Given the description of an element on the screen output the (x, y) to click on. 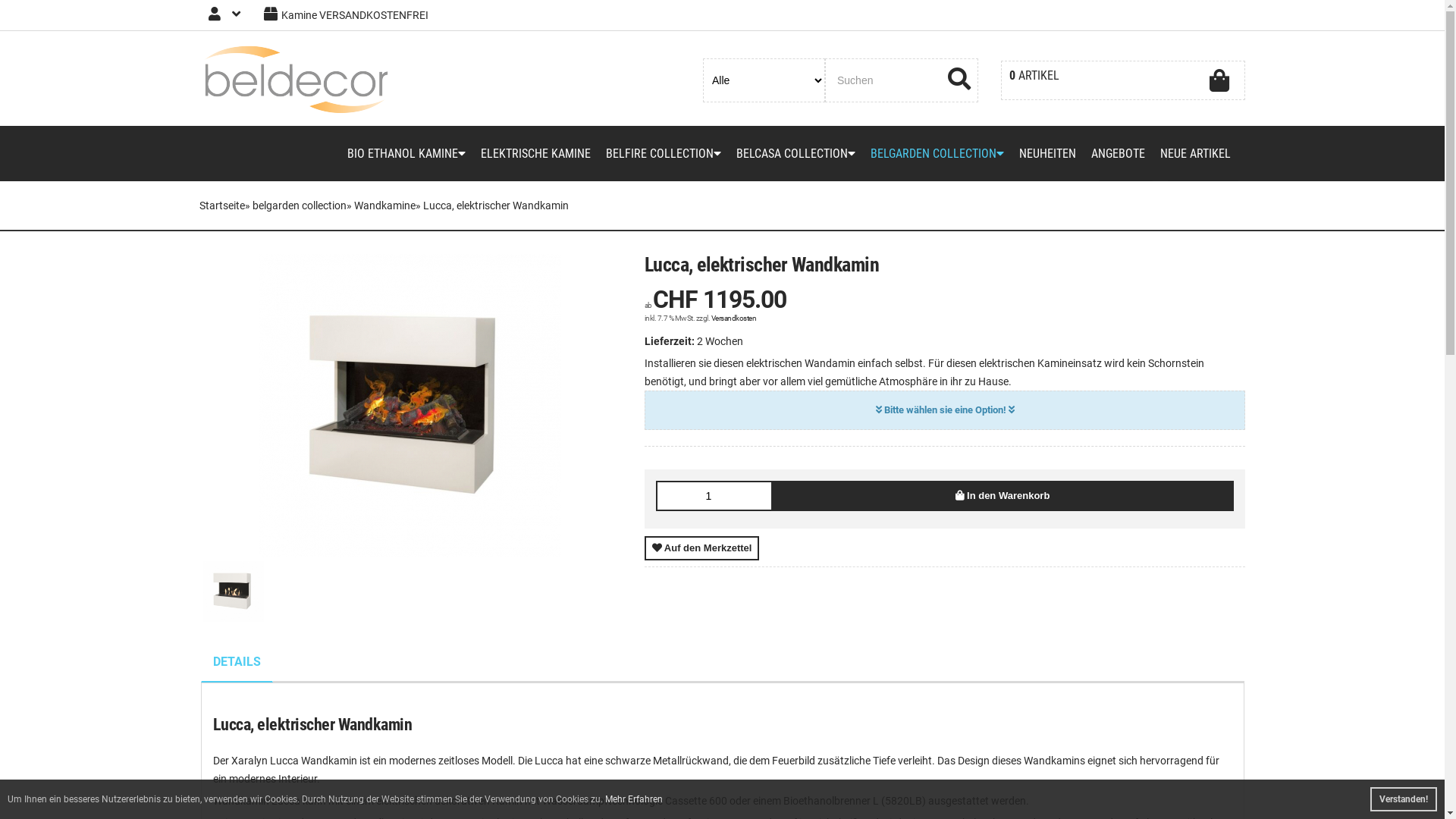
Suchen Element type: hover (959, 80)
Mehr Erfahren Element type: text (633, 798)
Versandkosten Element type: text (733, 317)
NEUHEITEN Element type: text (1047, 153)
Sitemap Element type: text (588, 436)
Beldecor GmbH Element type: hover (296, 79)
Widerrufsrecht Element type: text (320, 558)
BIO ETHANOL KAMINE Element type: text (406, 153)
BELCASA COLLECTION Element type: text (795, 153)
Kontakt Element type: text (320, 534)
  Element type: text (959, 80)
giannattasio@beldecor.ch Element type: text (1089, 563)
Wandkamine Element type: text (383, 205)
Vertriebspartner Element type: text (588, 461)
belgarden collection Element type: text (298, 205)
Startseite Element type: text (221, 205)
BELGARDEN COLLECTION Element type: text (936, 153)
Unsere AGB Element type: text (320, 485)
Lieferzeit Element type: text (320, 582)
Liefer- und Versandkosten Element type: text (320, 436)
ANGEBOTE Element type: text (1116, 153)
Impressum Element type: text (320, 509)
2 Wochen Element type: text (719, 341)
BELFIRE COLLECTION Element type: text (662, 153)
NEUE ARTIKEL Element type: text (1195, 153)
Lucca, elektrischer Wandkamin Element type: hover (409, 405)
Verstanden! Element type: text (1403, 799)
ELEKTRISCHE KAMINE Element type: text (535, 153)
 Auf den Merkzettel Element type: text (701, 548)
DETAILS Element type: text (236, 662)
 In den Warenkorb Element type: text (1002, 495)
